Given the description of an element on the screen output the (x, y) to click on. 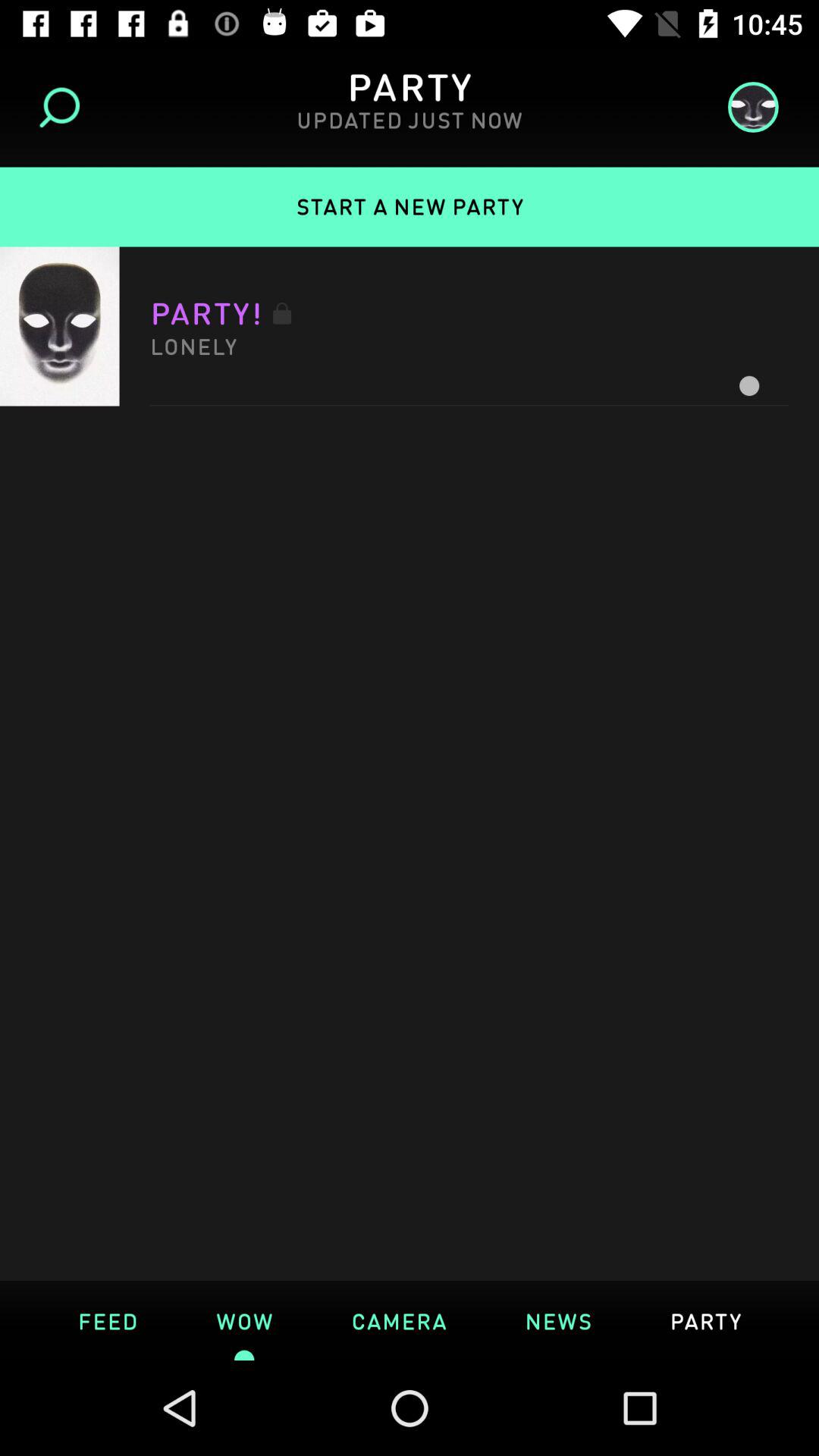
click on text news (558, 1320)
option beside feed (244, 1320)
heading of the page above updated (408, 85)
click on option  left to news at bottom (399, 1320)
select the icon right to the text party (748, 106)
click on the text which is right side of news (705, 1320)
